Given the description of an element on the screen output the (x, y) to click on. 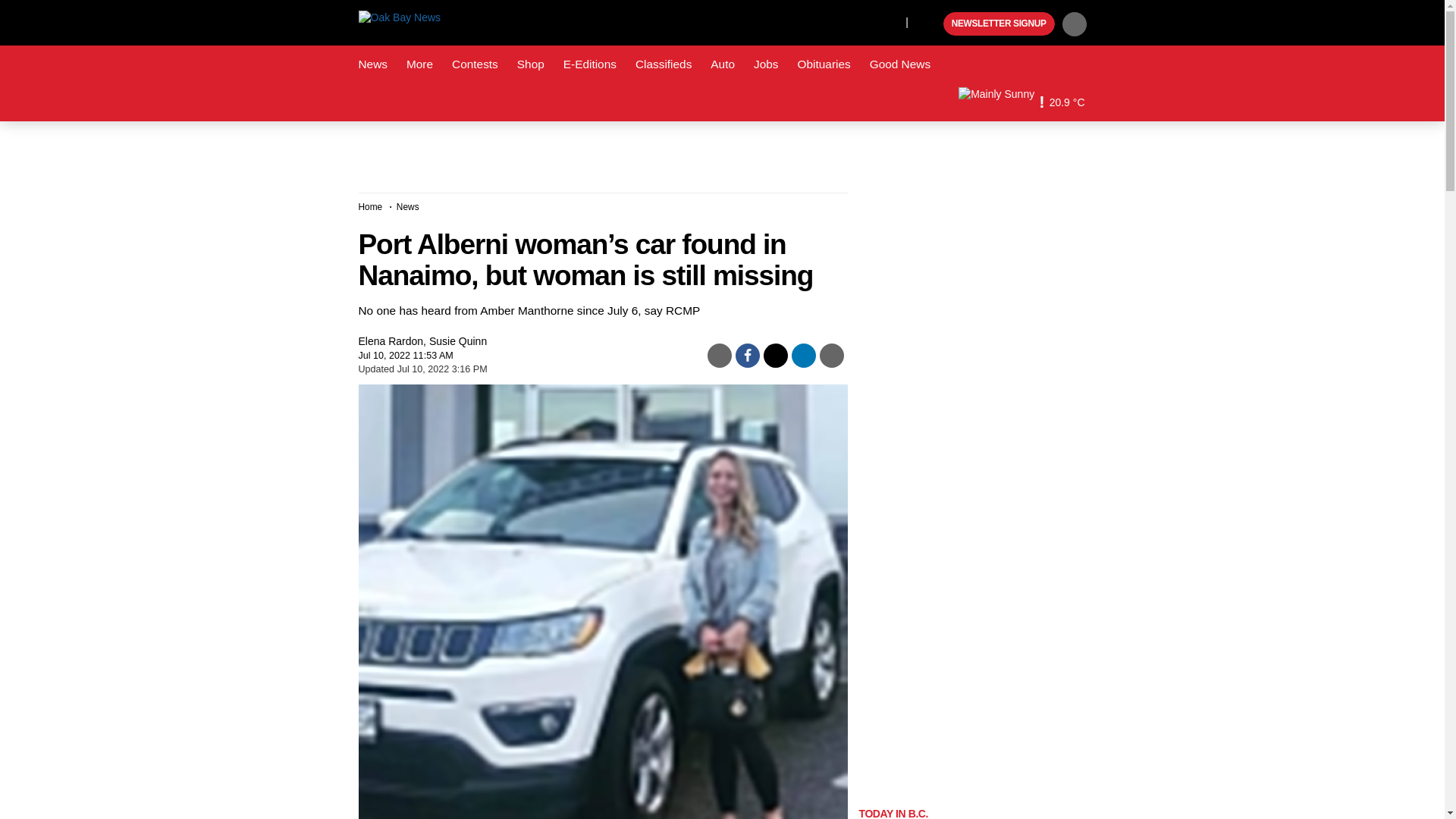
Black Press Media (929, 24)
Play (929, 24)
X (889, 21)
NEWSLETTER SIGNUP (998, 24)
News (372, 64)
